Given the description of an element on the screen output the (x, y) to click on. 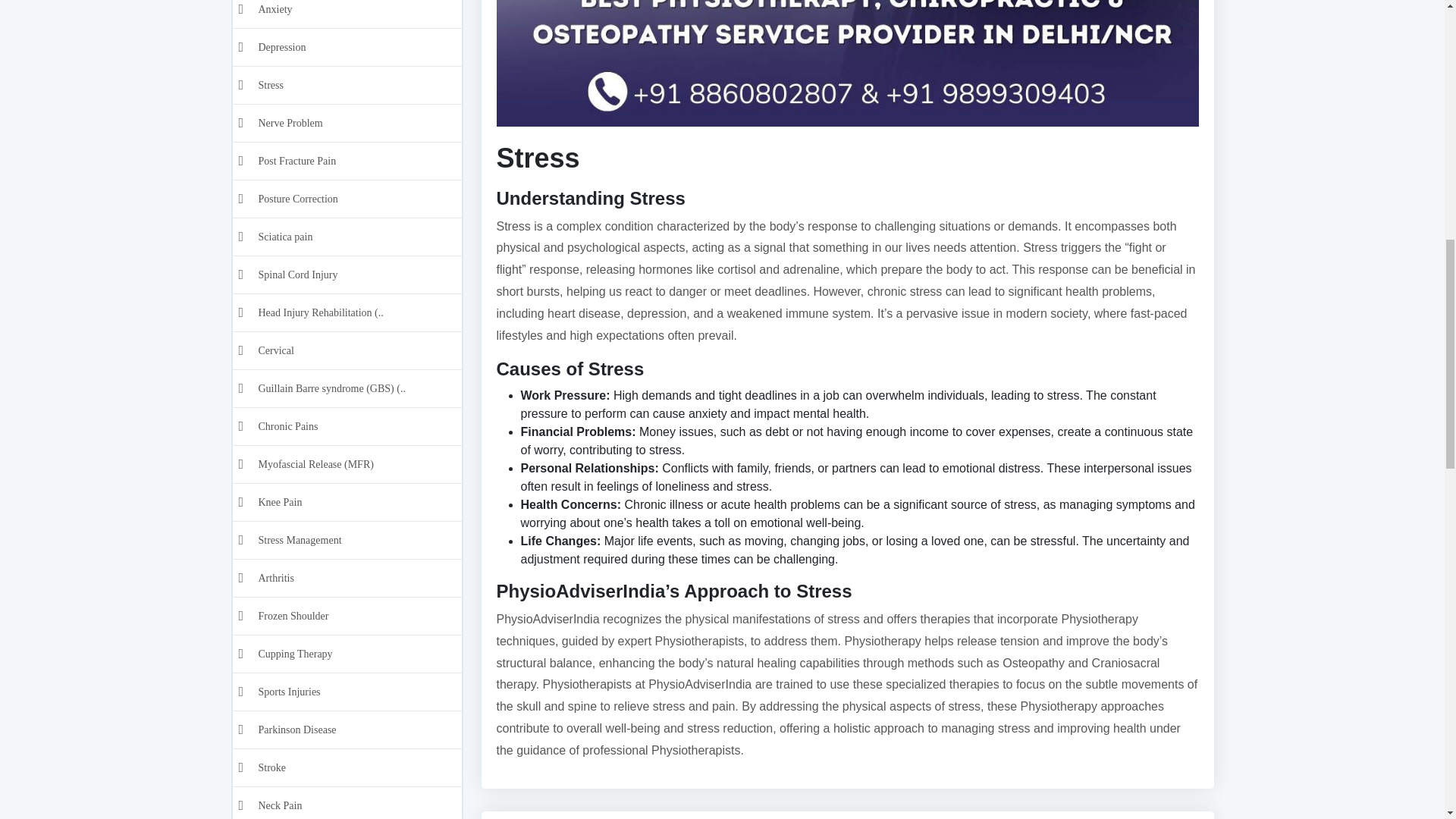
Cervical (355, 8)
Knee Pain (355, 149)
Chronic Pains (355, 73)
